Given the description of an element on the screen output the (x, y) to click on. 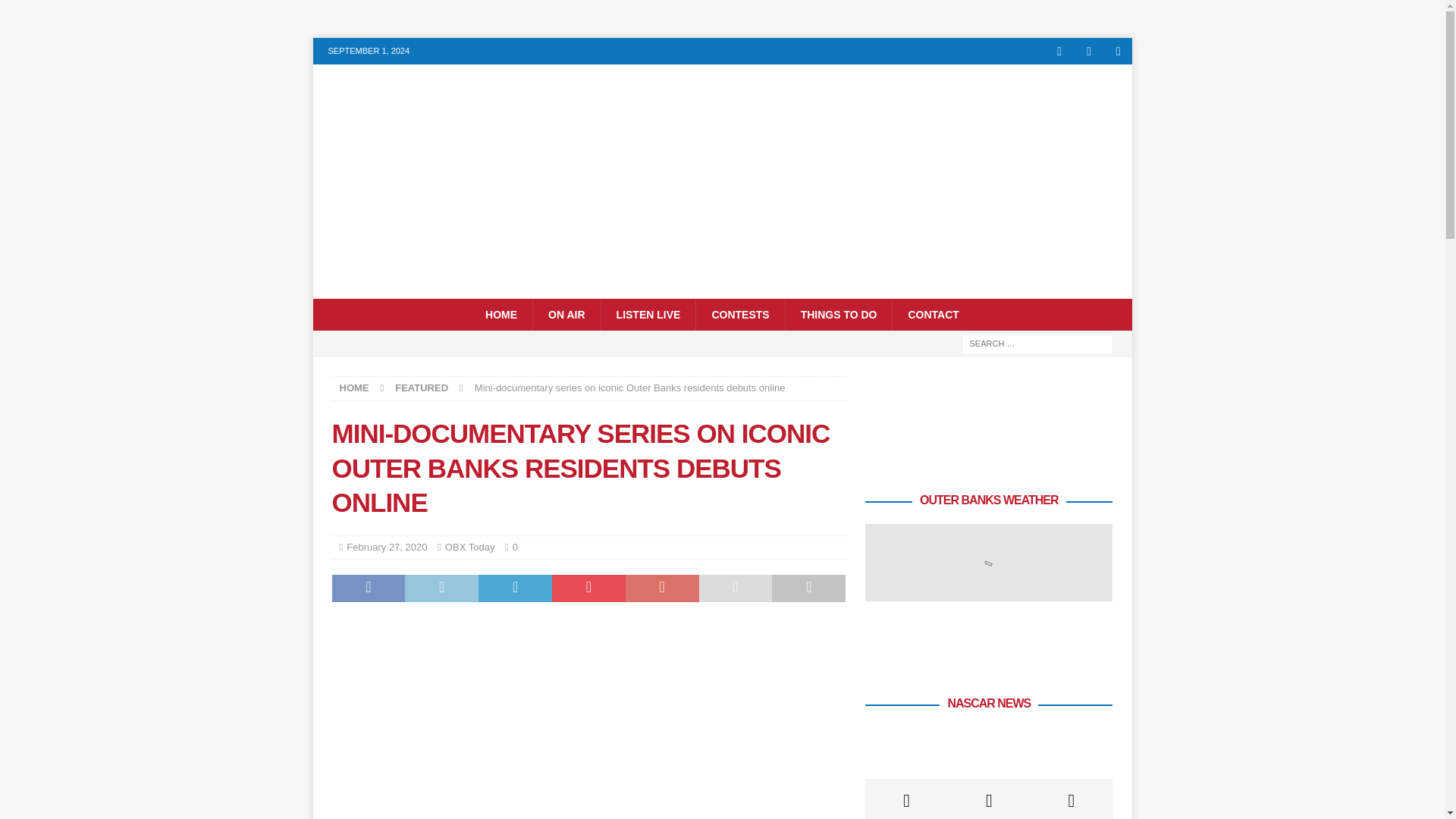
FEATURED (421, 387)
THINGS TO DO (838, 314)
Search (56, 11)
HOME (354, 387)
OBX Today (470, 546)
February 27, 2020 (386, 546)
ON AIR (565, 314)
LISTEN LIVE (647, 314)
HOME (501, 314)
CONTACT (932, 314)
